Given the description of an element on the screen output the (x, y) to click on. 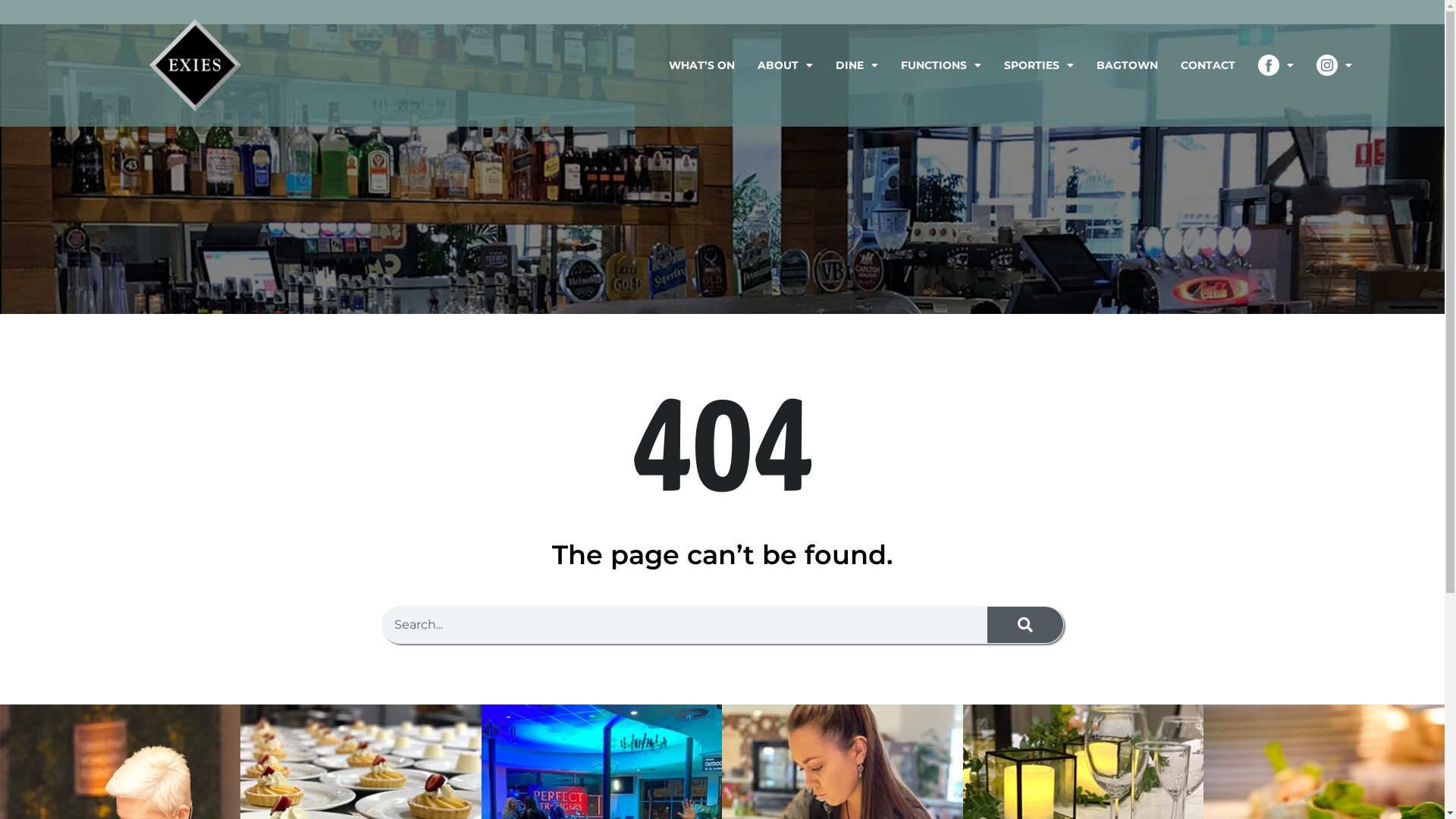
FUNCTIONS Element type: text (940, 64)
DINE Element type: text (856, 64)
CONTACT Element type: text (1207, 64)
BAGTOWN Element type: text (1127, 64)
Search Element type: hover (1025, 624)
SPORTIES Element type: text (1038, 64)
Search Element type: hover (684, 624)
ABOUT Element type: text (785, 64)
